Given the description of an element on the screen output the (x, y) to click on. 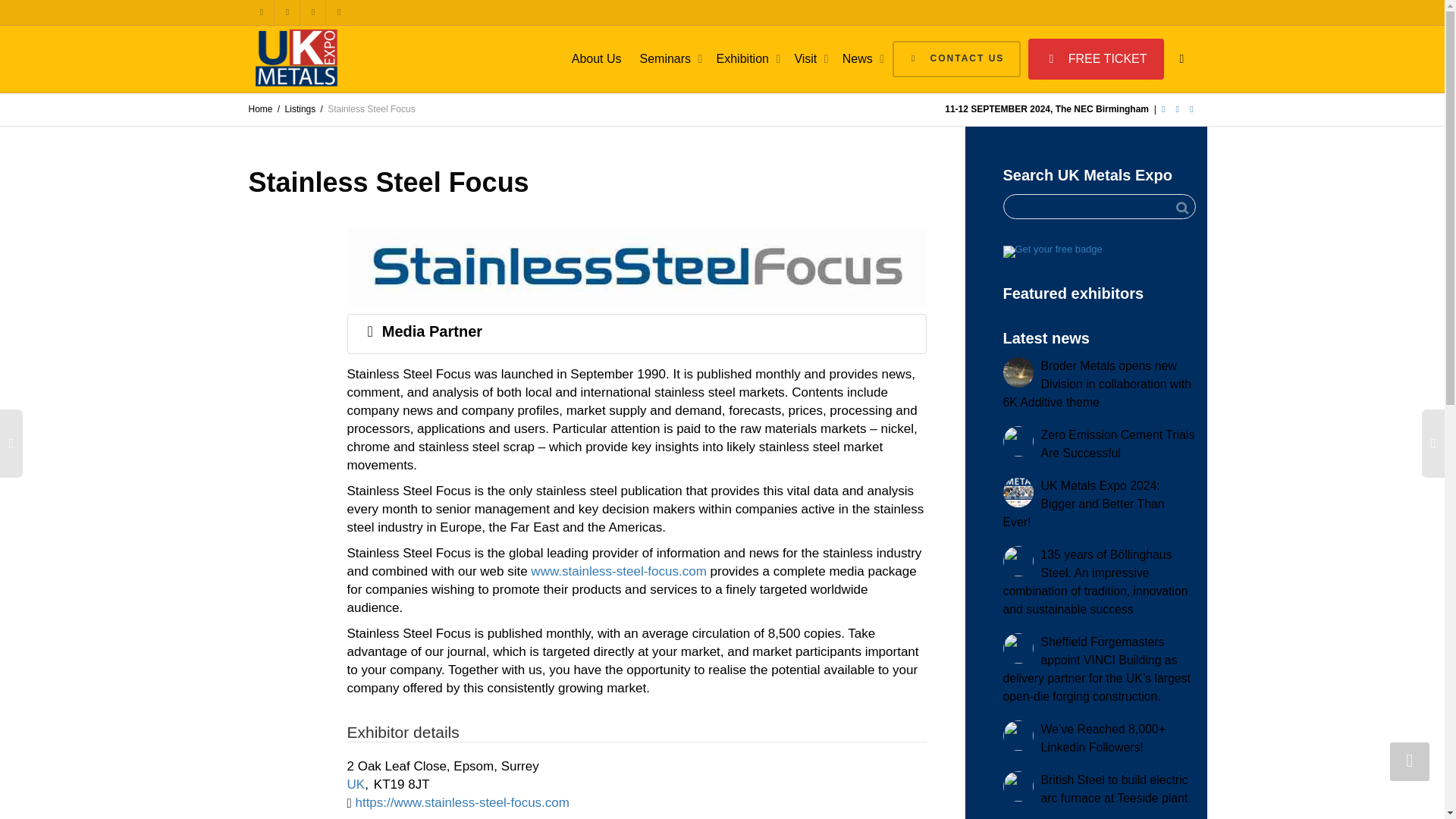
Exhibition (746, 58)
Seminars (669, 58)
News (861, 58)
UK Metals Expo (297, 57)
Home (260, 109)
Exhibition (746, 58)
CONTACT US (956, 58)
About Us (596, 58)
About Us (596, 58)
FREE TICKET (1095, 58)
Search (1181, 208)
Search (1181, 208)
Seminars (669, 58)
Visit (808, 58)
Listings (300, 109)
